Given the description of an element on the screen output the (x, y) to click on. 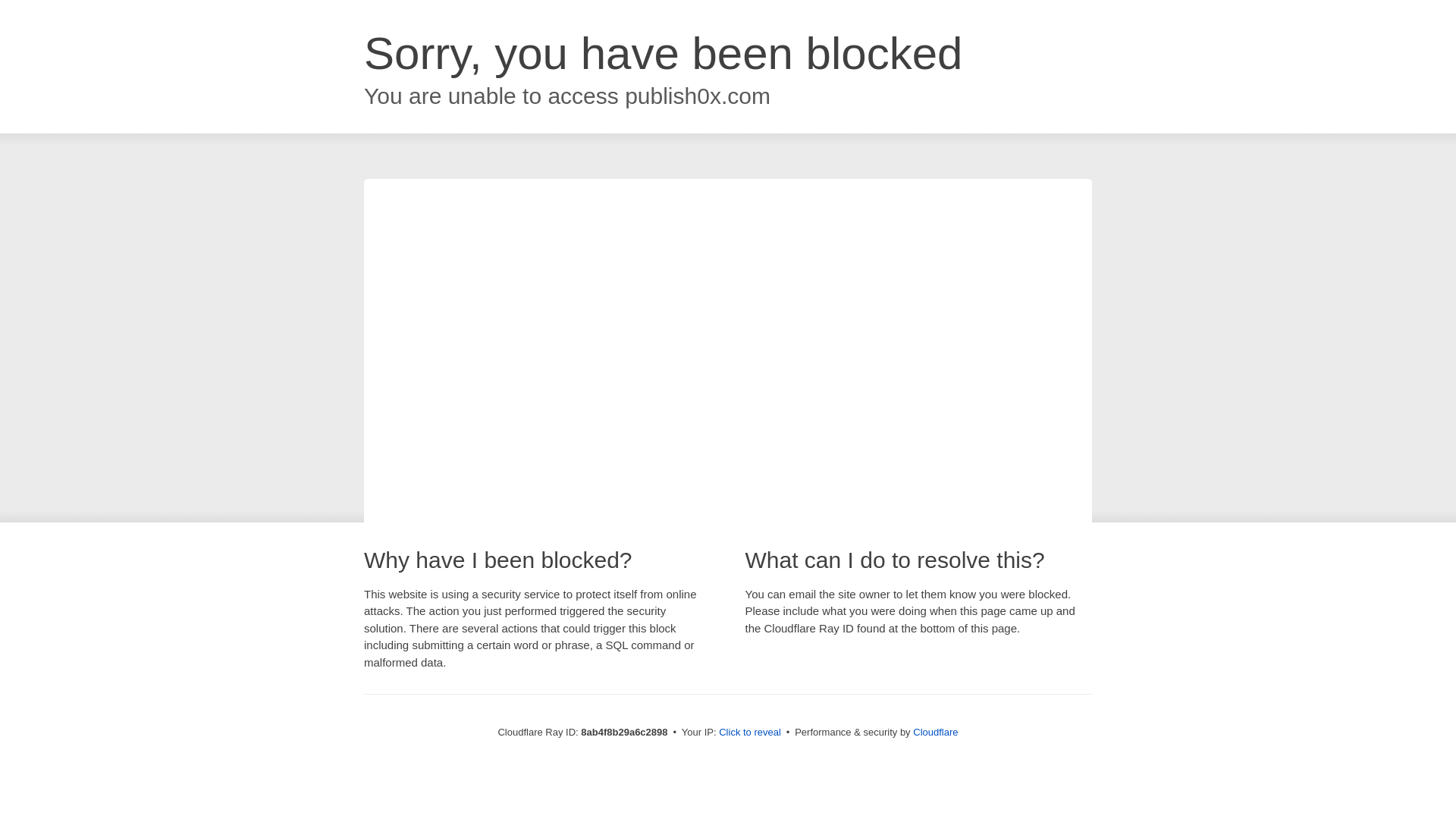
Click to reveal (749, 732)
Cloudflare (935, 731)
